Given the description of an element on the screen output the (x, y) to click on. 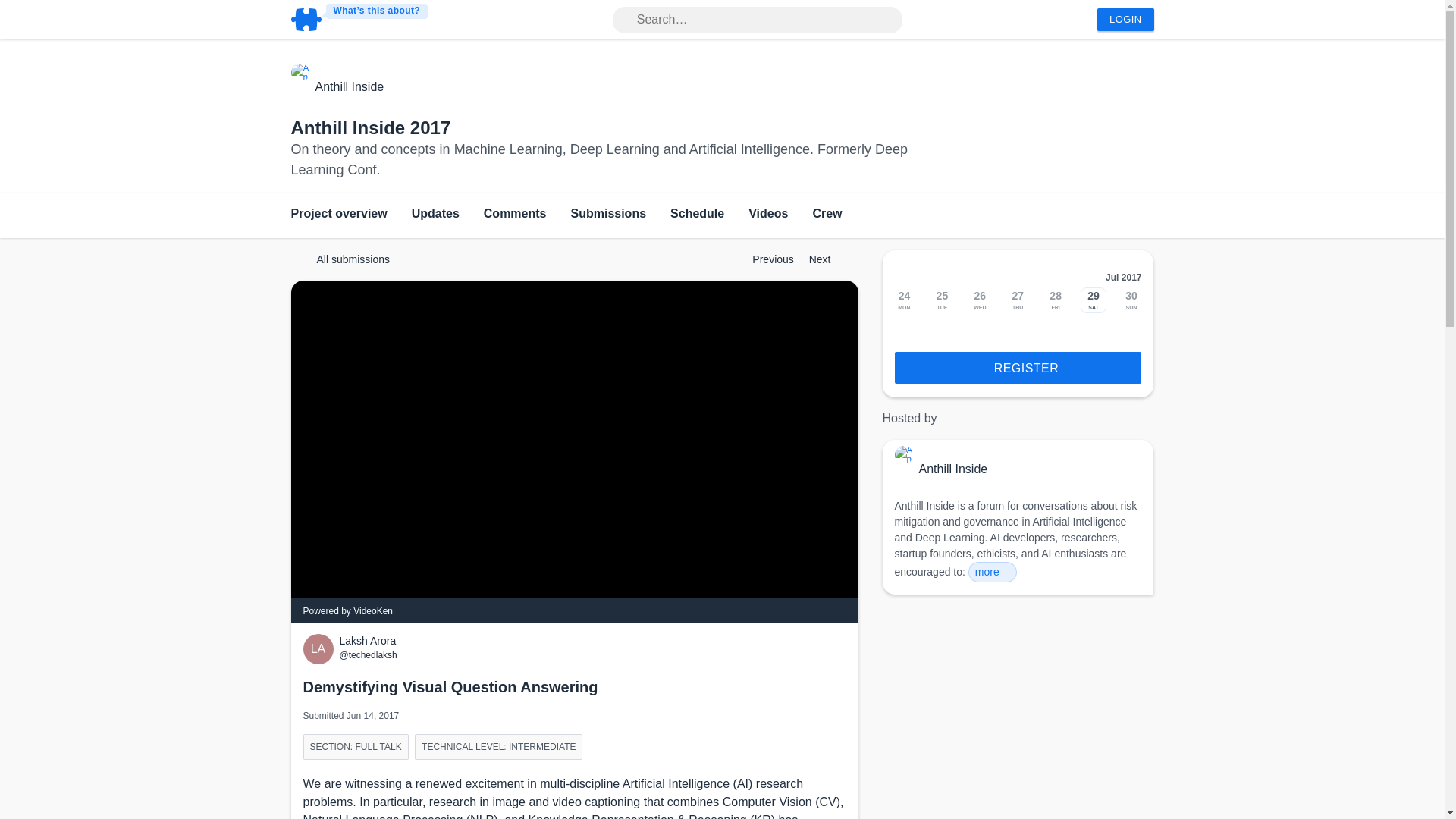
Schedule (696, 215)
Updates (436, 215)
LA (320, 648)
Anthill Inside 2017 (371, 127)
Powered by VideoKen (347, 611)
Next (827, 259)
All submissions (346, 259)
Submissions (608, 215)
Anthill Inside (349, 85)
Comments (515, 215)
